Given the description of an element on the screen output the (x, y) to click on. 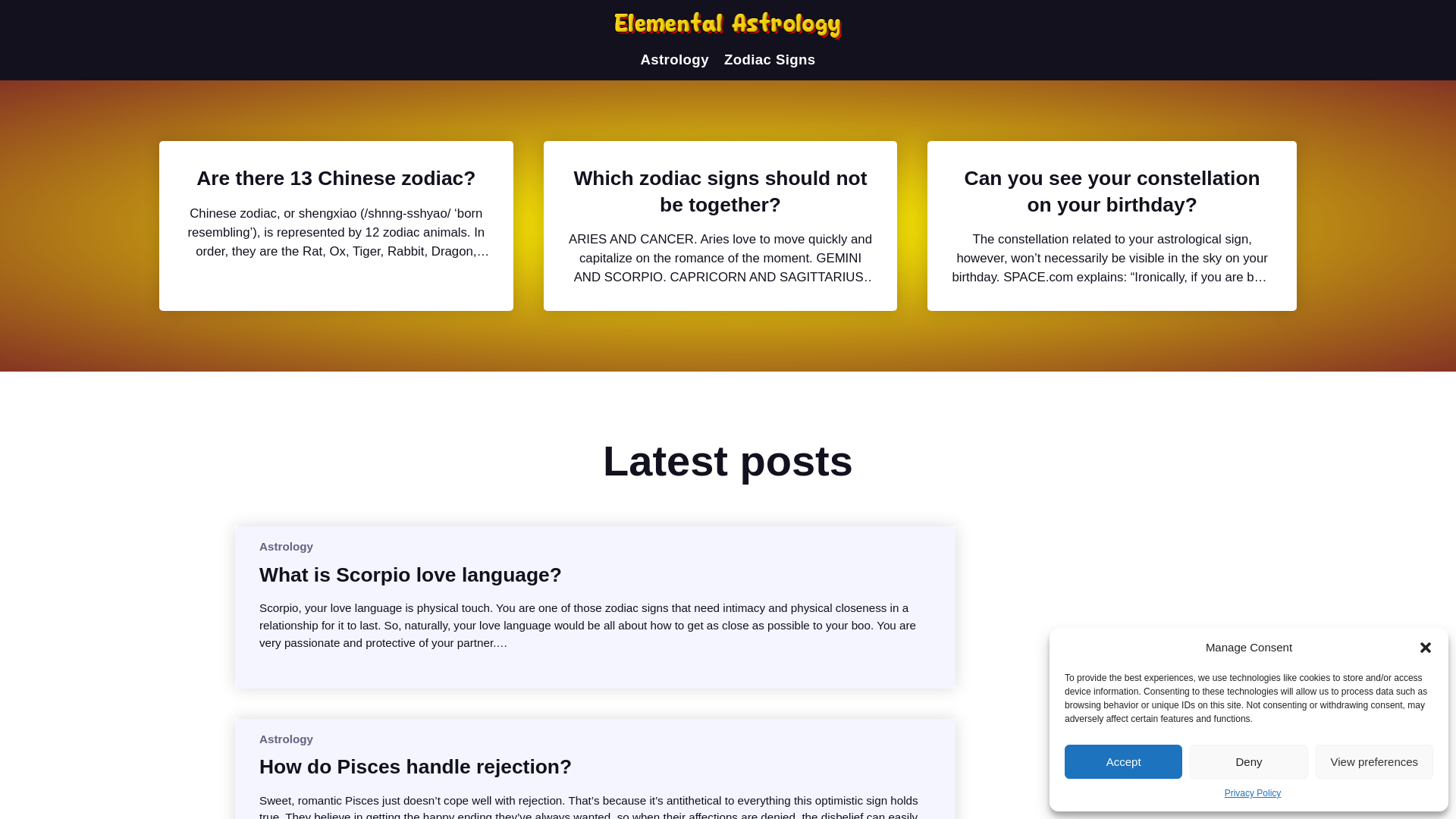
Can you see your constellation on your birthday? (1112, 191)
Privacy Policy (1252, 793)
Zodiac Signs (769, 59)
Which zodiac signs should not be together? (720, 191)
Deny (1248, 761)
Accept (1123, 761)
How do Pisces handle rejection? (415, 766)
Astrology (286, 545)
View preferences (1374, 761)
Astrology (286, 738)
Astrology (674, 59)
What is Scorpio love language? (410, 574)
Are there 13 Chinese zodiac? (336, 177)
